Given the description of an element on the screen output the (x, y) to click on. 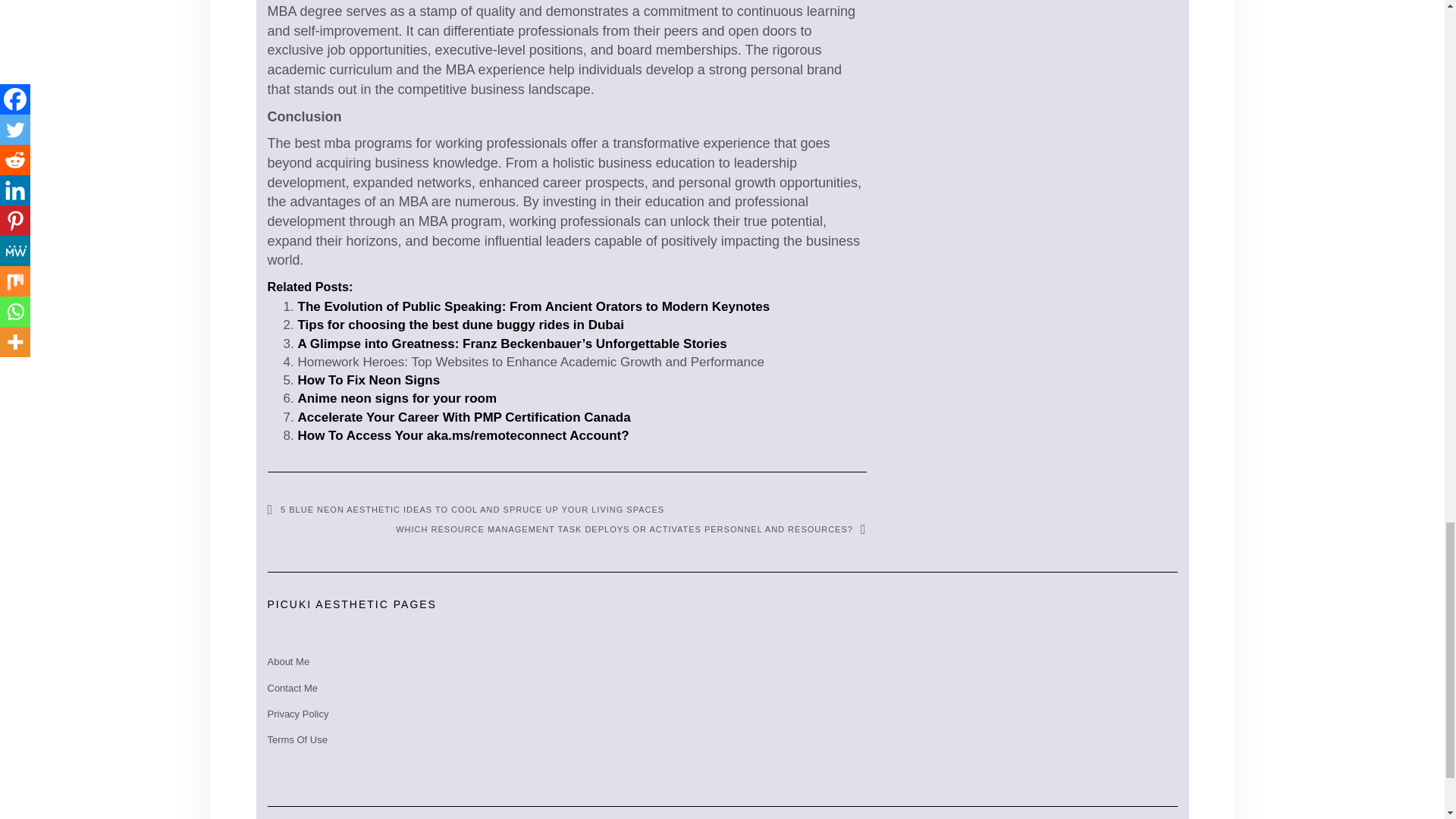
How To Fix Neon Signs (368, 380)
Accelerate Your Career With PMP Certification Canada (463, 417)
Anime neon signs for your room (396, 398)
Tips for choosing the best dune buggy rides in Dubai (460, 324)
